Given the description of an element on the screen output the (x, y) to click on. 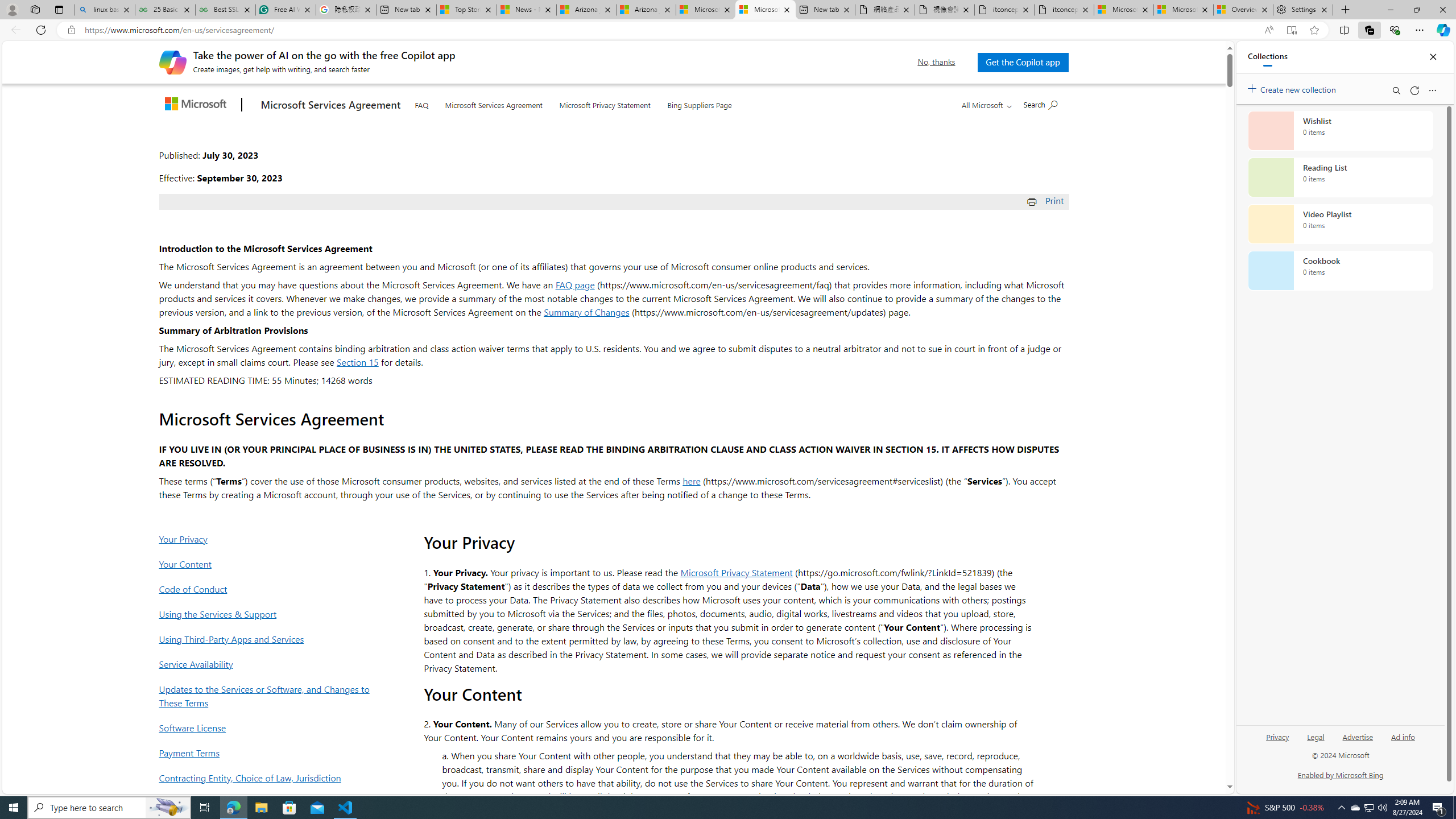
Microsoft Privacy Statement (736, 571)
Section 15 (357, 361)
linux basic - Search (104, 9)
here (691, 480)
Using the Services & Support (267, 613)
